Given the description of an element on the screen output the (x, y) to click on. 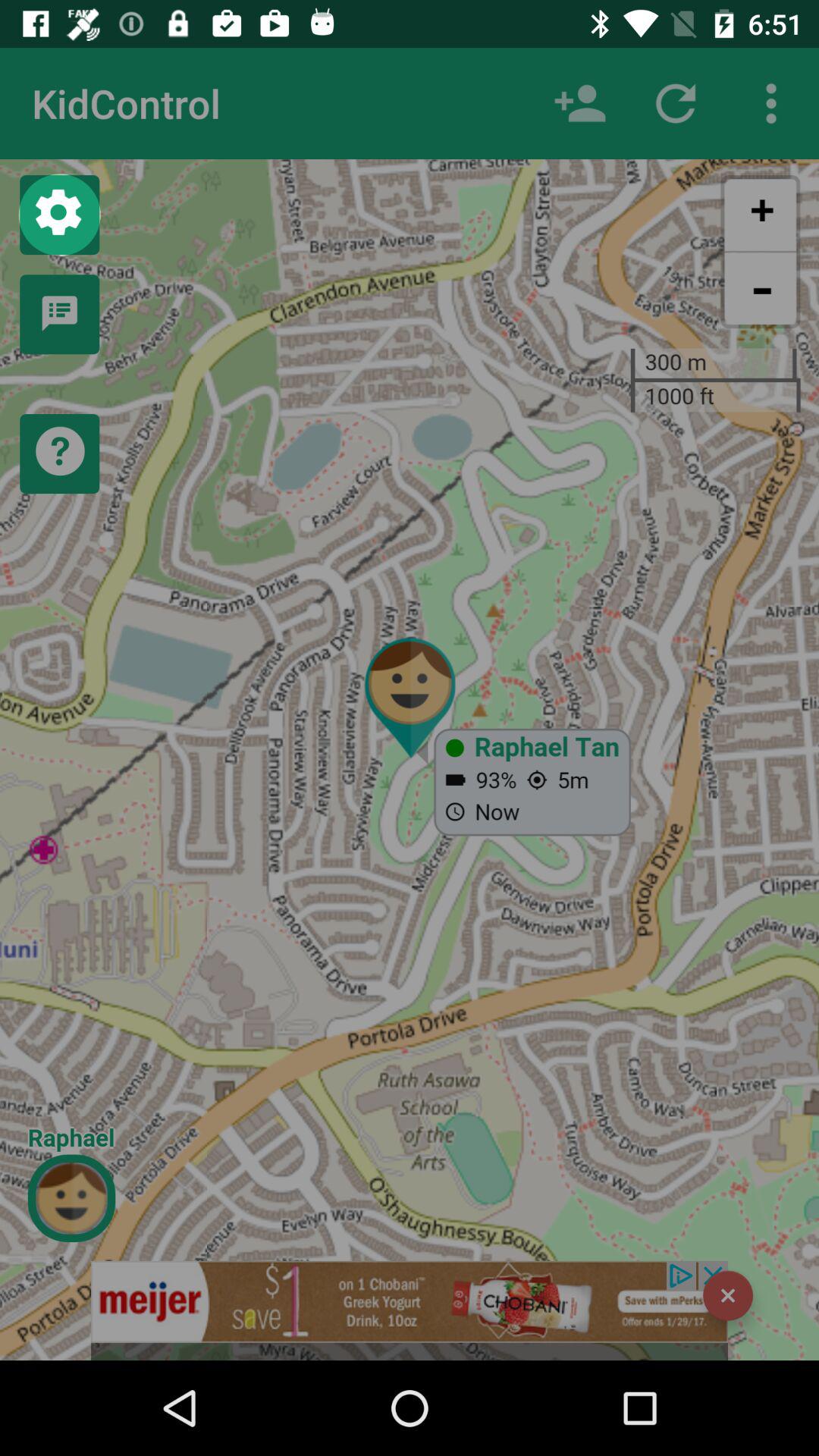
settings (59, 214)
